Given the description of an element on the screen output the (x, y) to click on. 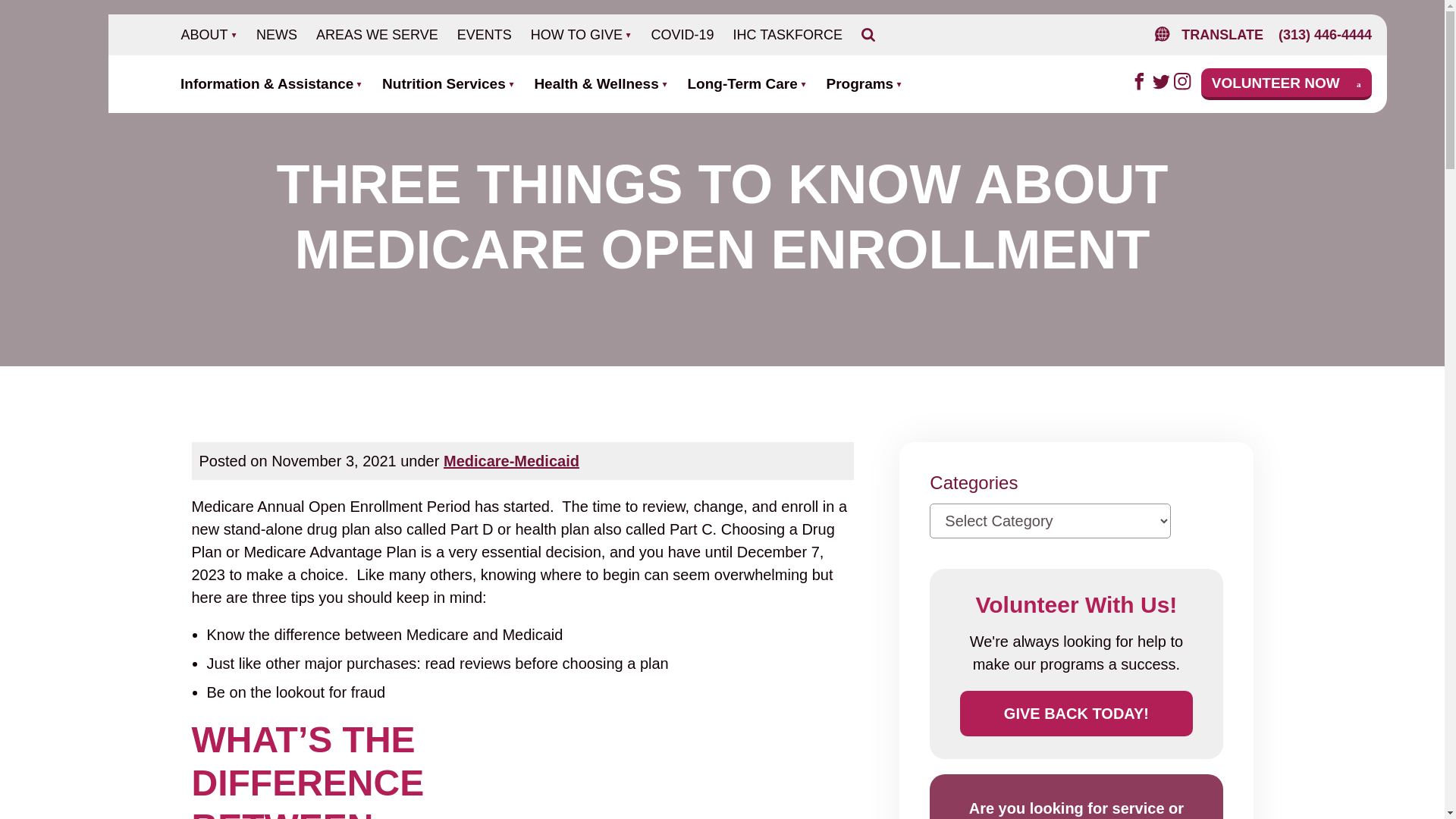
Nutrition Services (448, 84)
COVID-19 (682, 34)
Detroit Area Agency on Aging (107, 63)
NEWS (276, 34)
IHC TASKFORCE (787, 34)
ABOUT (208, 34)
HOW TO GIVE (581, 34)
TRANSLATE (1205, 34)
AREAS WE SERVE (376, 34)
EVENTS (484, 34)
